Given the description of an element on the screen output the (x, y) to click on. 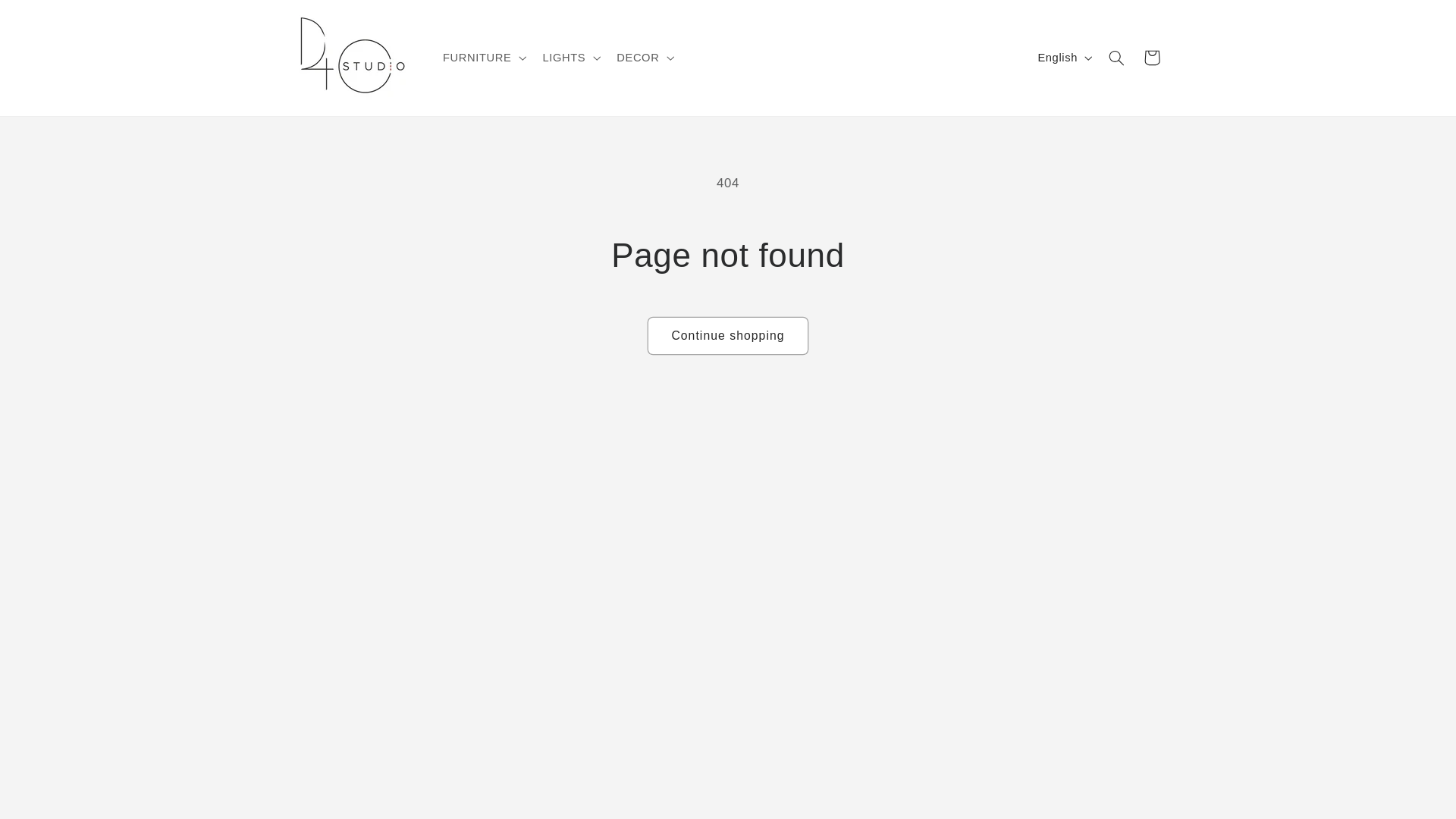
Skip to content (48, 18)
